Given the description of an element on the screen output the (x, y) to click on. 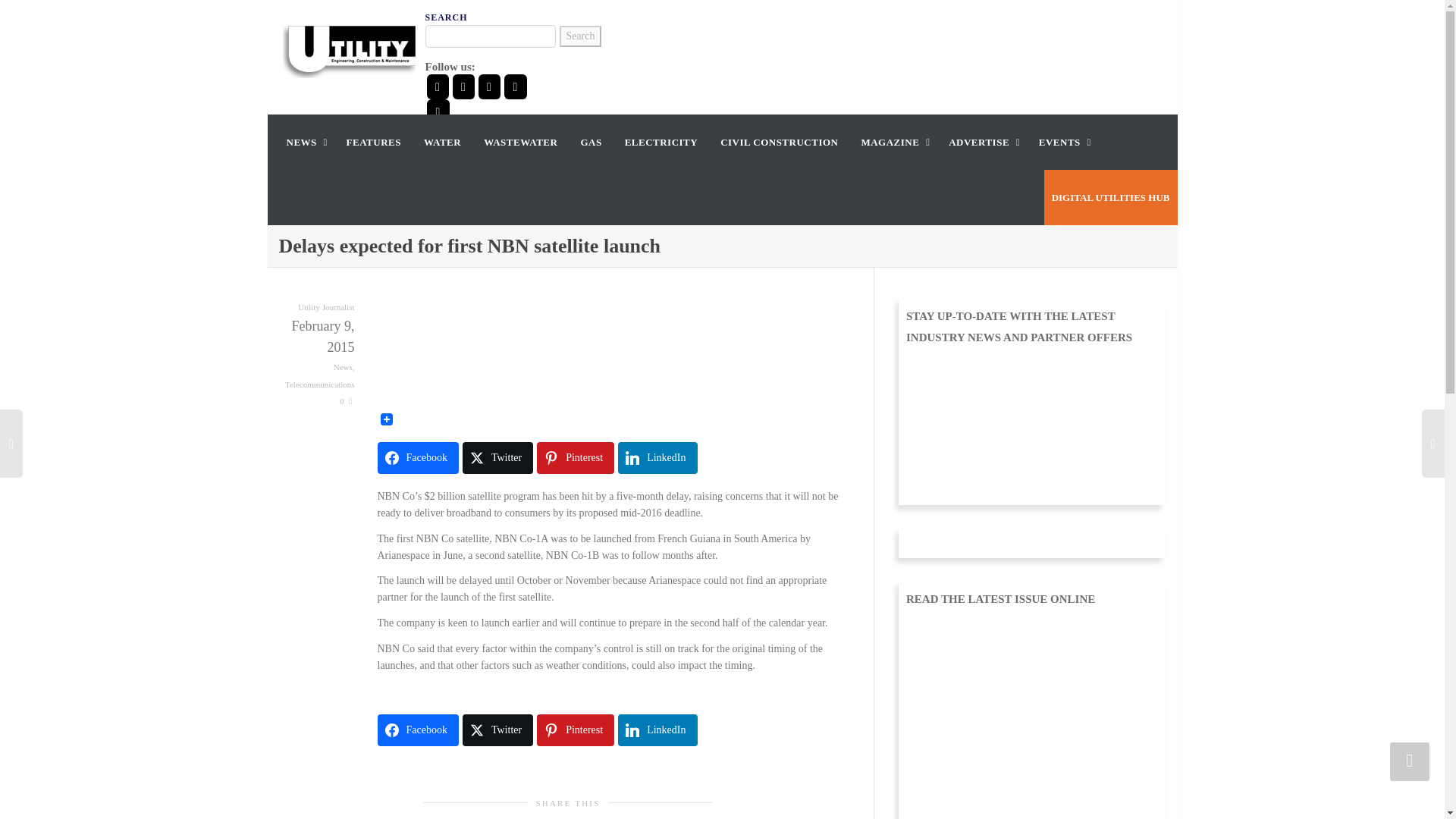
Facebook (417, 458)
CIVIL CONSTRUCTION (779, 141)
DIGITAL UTILITIES HUB (1110, 197)
News (342, 366)
Search (579, 35)
Features (373, 141)
February 9, 2015 (317, 336)
Electricity (661, 141)
Civil Construction (779, 141)
Utility Magazine (348, 49)
Telecommunications (319, 384)
Search (579, 35)
RSS Feed (437, 111)
Search (579, 35)
ADVERTISE (982, 141)
